Given the description of an element on the screen output the (x, y) to click on. 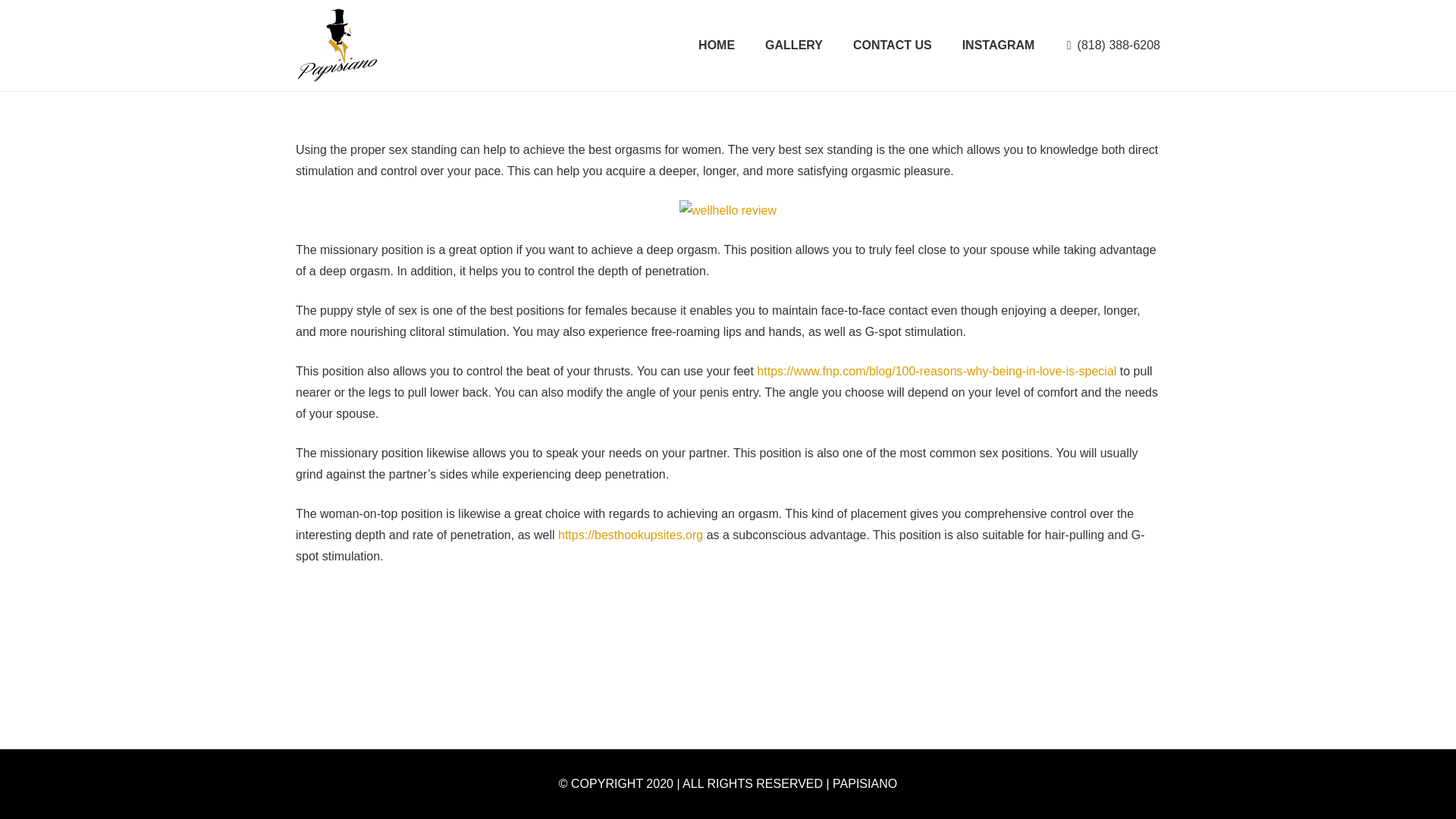
CONTACT US (892, 45)
INSTAGRAM (998, 45)
GALLERY (793, 45)
